Given the description of an element on the screen output the (x, y) to click on. 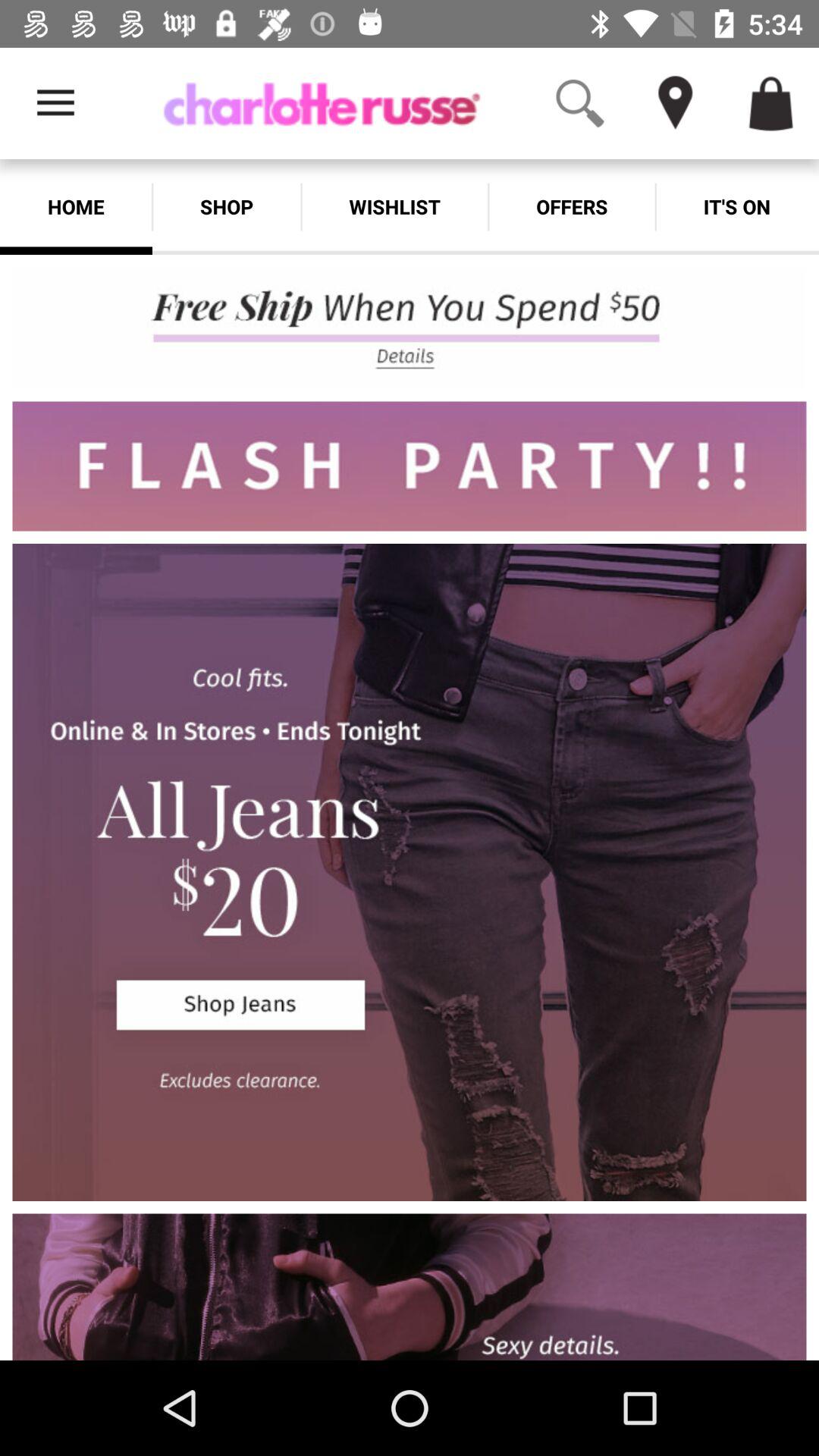
turn off the app above the it's on (797, 66)
